Given the description of an element on the screen output the (x, y) to click on. 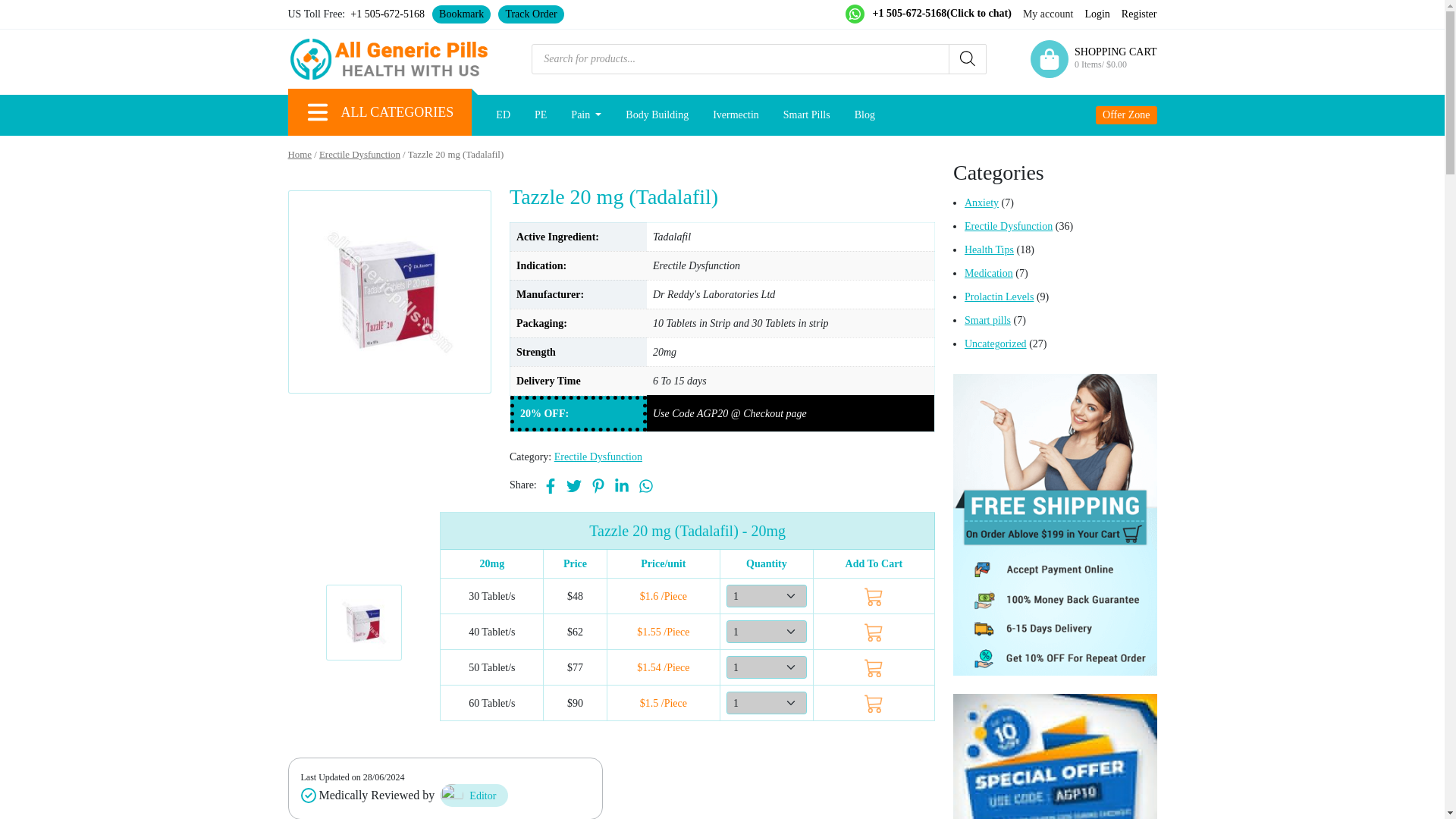
Pain (585, 114)
Tazzle 20 - All Generic Pills (363, 622)
Offer Zone (1126, 115)
Ivermectin (735, 114)
Smart Pills (807, 114)
ED (502, 114)
Login (1096, 13)
Register (1139, 13)
Blog (864, 114)
PE (540, 114)
Track Order (530, 13)
Bookmark (461, 13)
Body Building (656, 114)
My account (1048, 13)
